Given the description of an element on the screen output the (x, y) to click on. 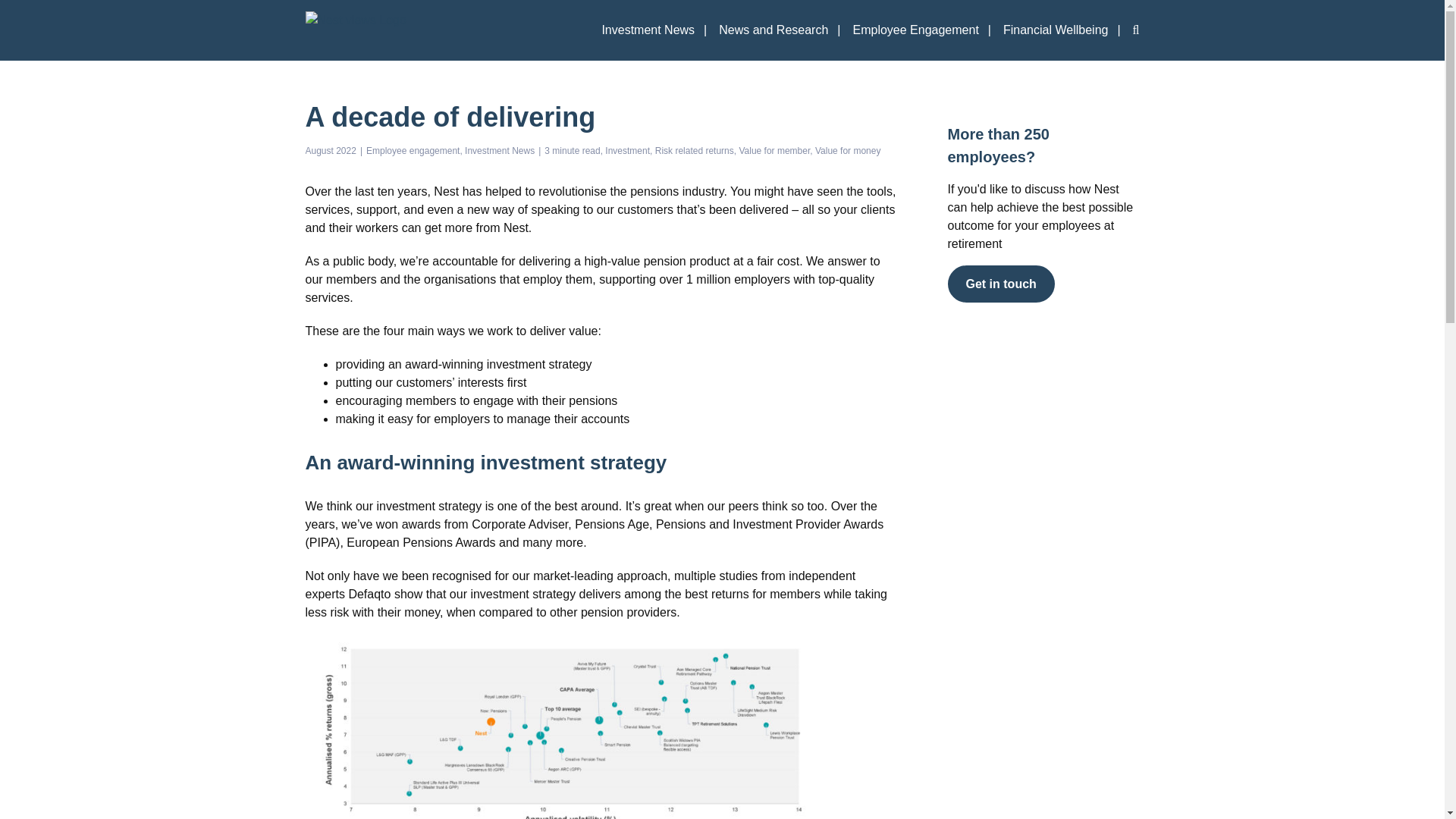
Get in touch (1000, 283)
3 minute read (574, 150)
Financial Wellbeing (1062, 30)
Investment News (499, 150)
Investment (629, 150)
Investment News (653, 30)
Get in touch (1000, 283)
Value for money (847, 150)
Value for member (776, 150)
Employee Engagement (920, 30)
